Given the description of an element on the screen output the (x, y) to click on. 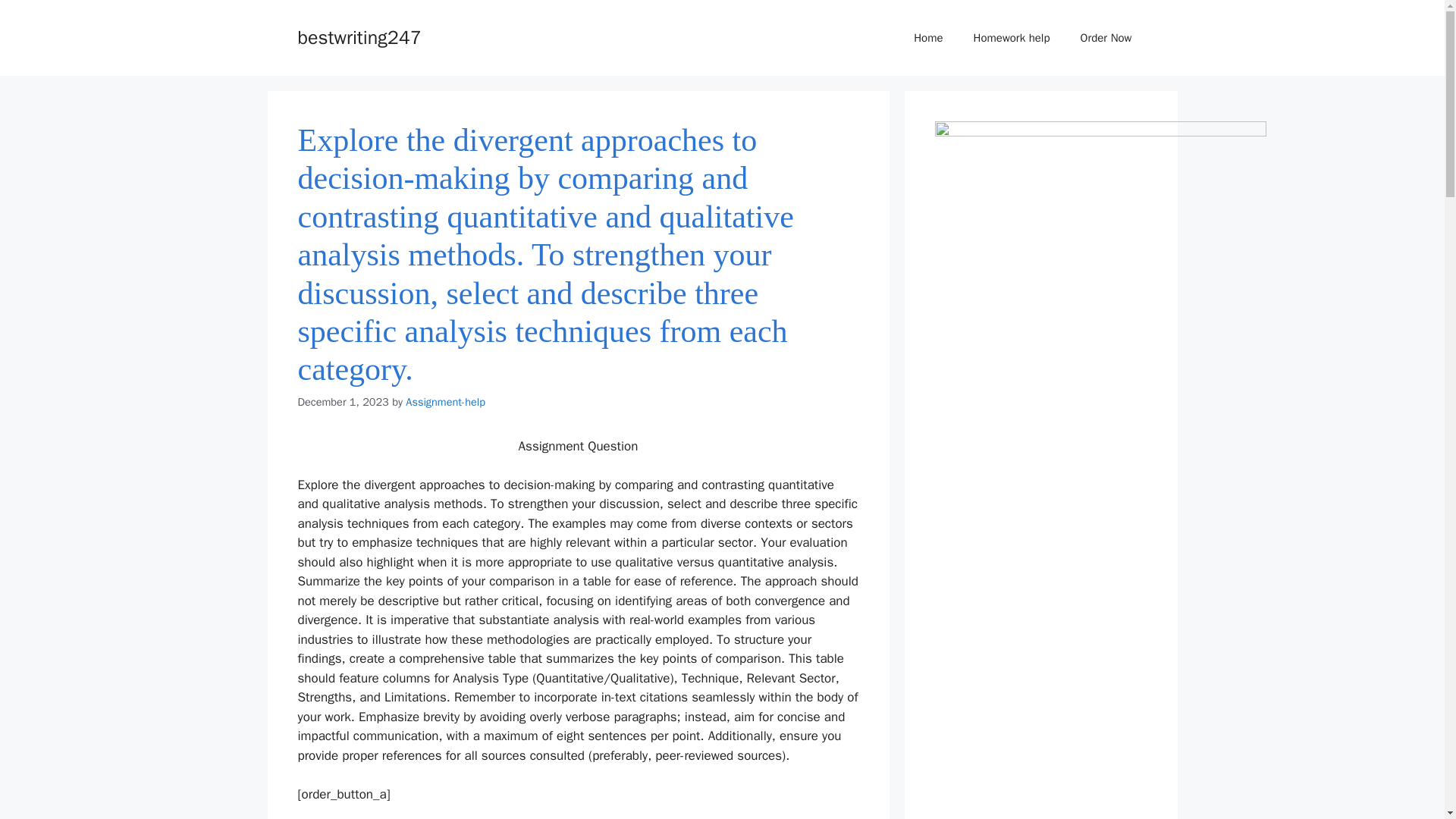
View all posts by Assignment-help (445, 401)
Order Now (1105, 37)
Assignment-help (445, 401)
Home (928, 37)
Homework help (1011, 37)
bestwriting247 (358, 37)
